Given the description of an element on the screen output the (x, y) to click on. 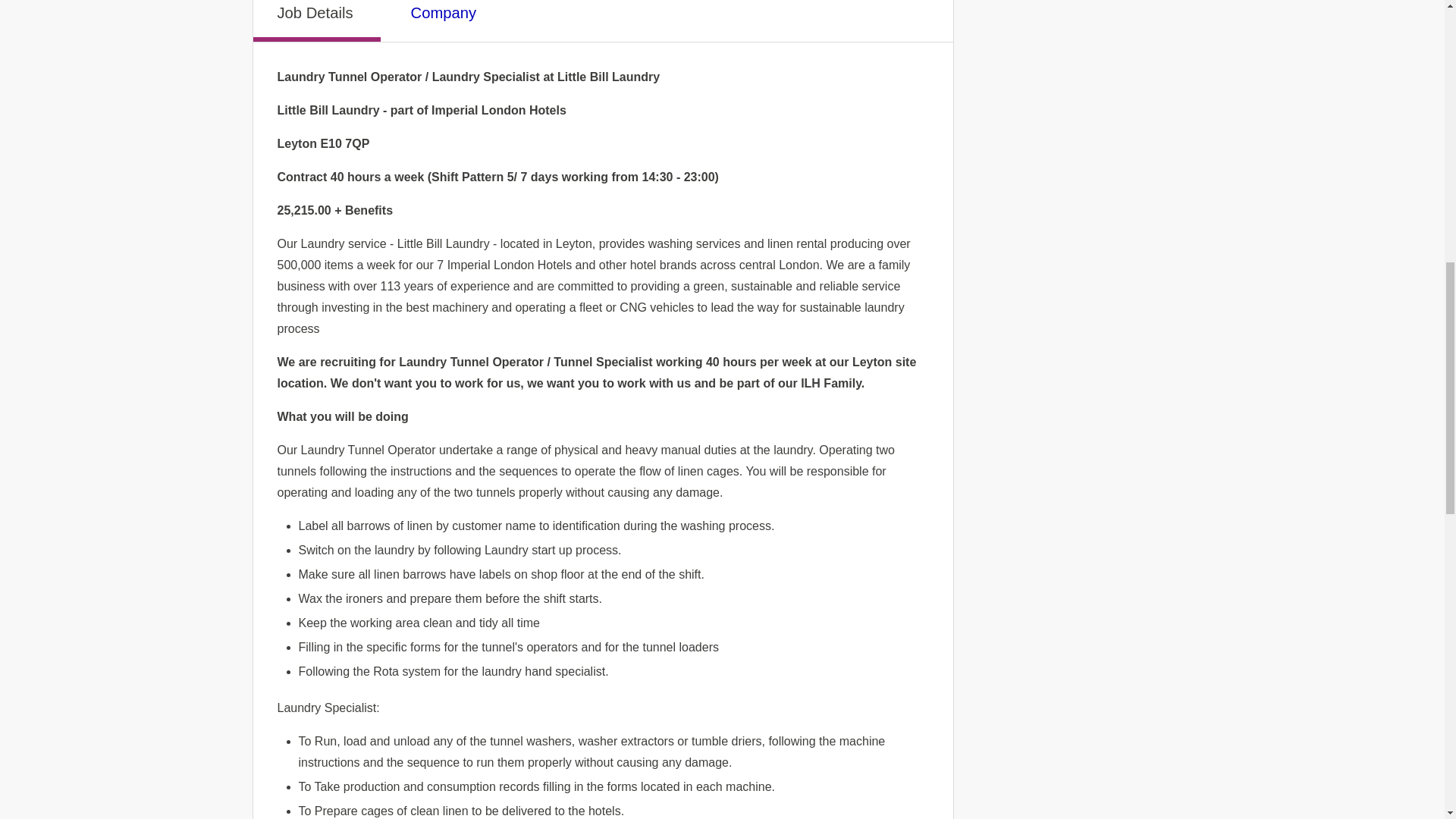
Job Details (316, 20)
Company (445, 18)
